Given the description of an element on the screen output the (x, y) to click on. 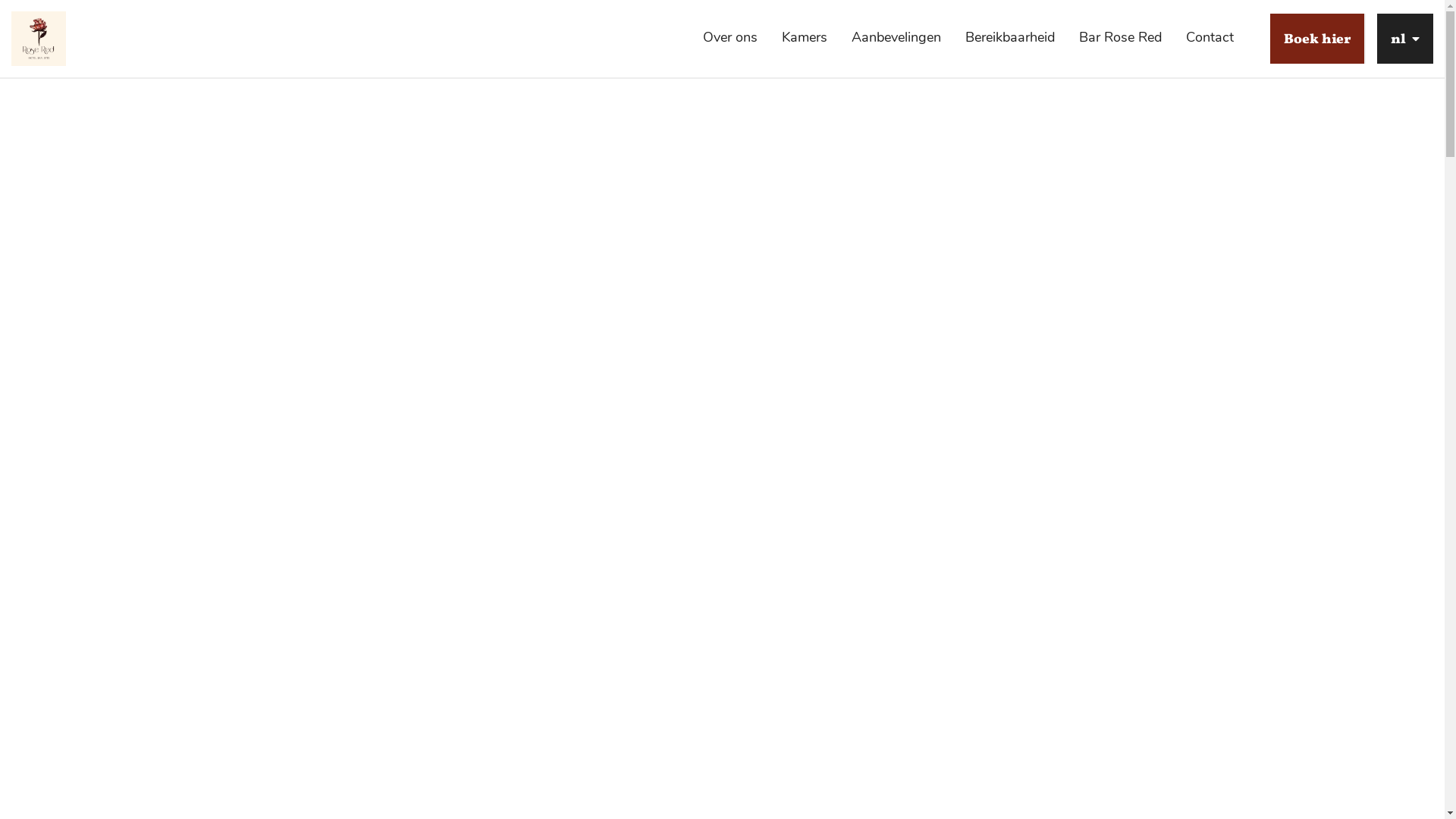
Bar Rose Red Element type: text (1120, 37)
Boek hier Element type: text (1317, 38)
Bereikbaarheid Element type: text (1009, 37)
Hotel Rose Red Element type: hover (38, 38)
Over ons Element type: text (729, 37)
Contact Element type: text (1209, 37)
Aanbevelingen Element type: text (896, 37)
Kamers Element type: text (804, 37)
